Given the description of an element on the screen output the (x, y) to click on. 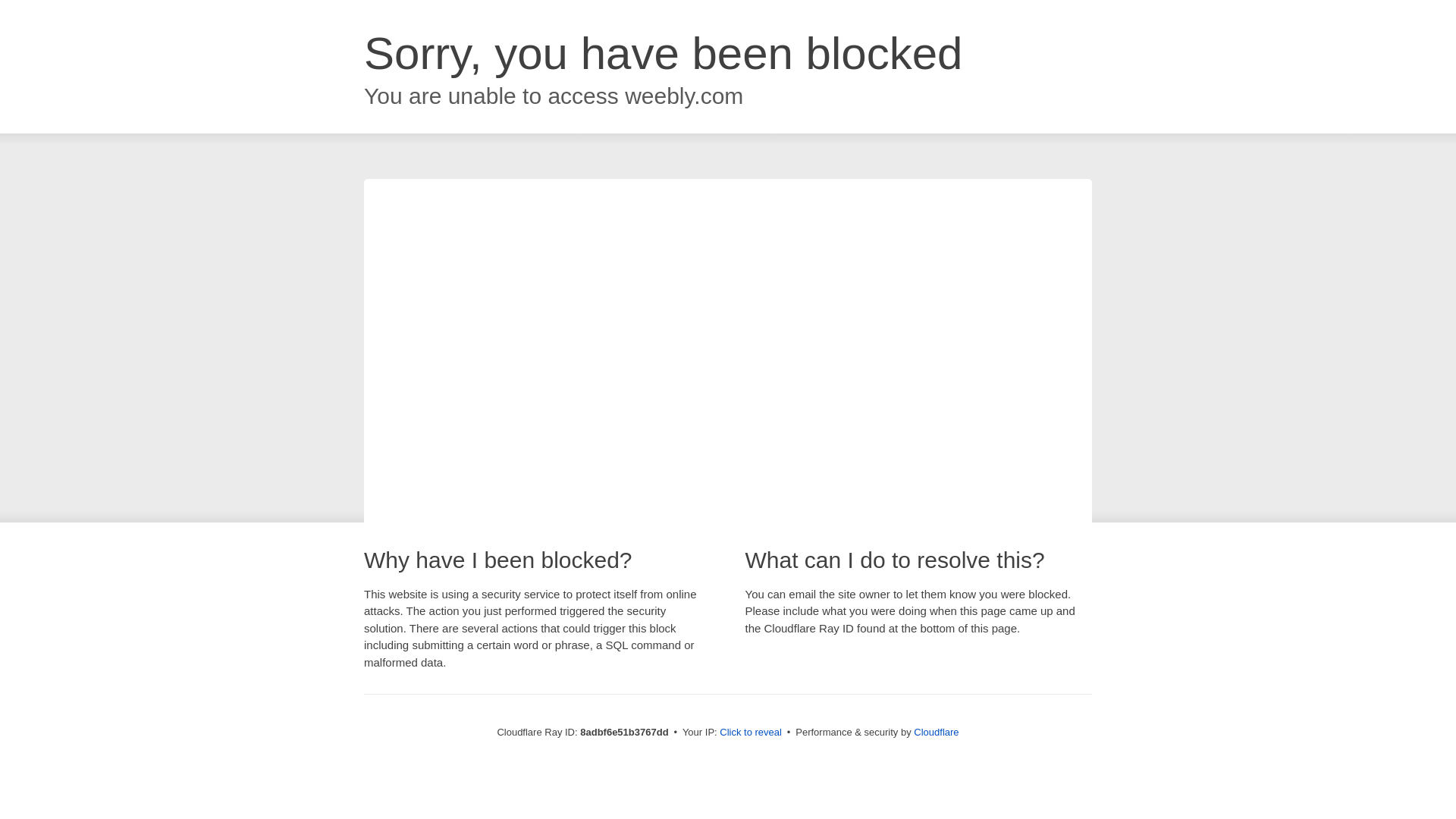
Cloudflare (936, 731)
Click to reveal (750, 732)
